Given the description of an element on the screen output the (x, y) to click on. 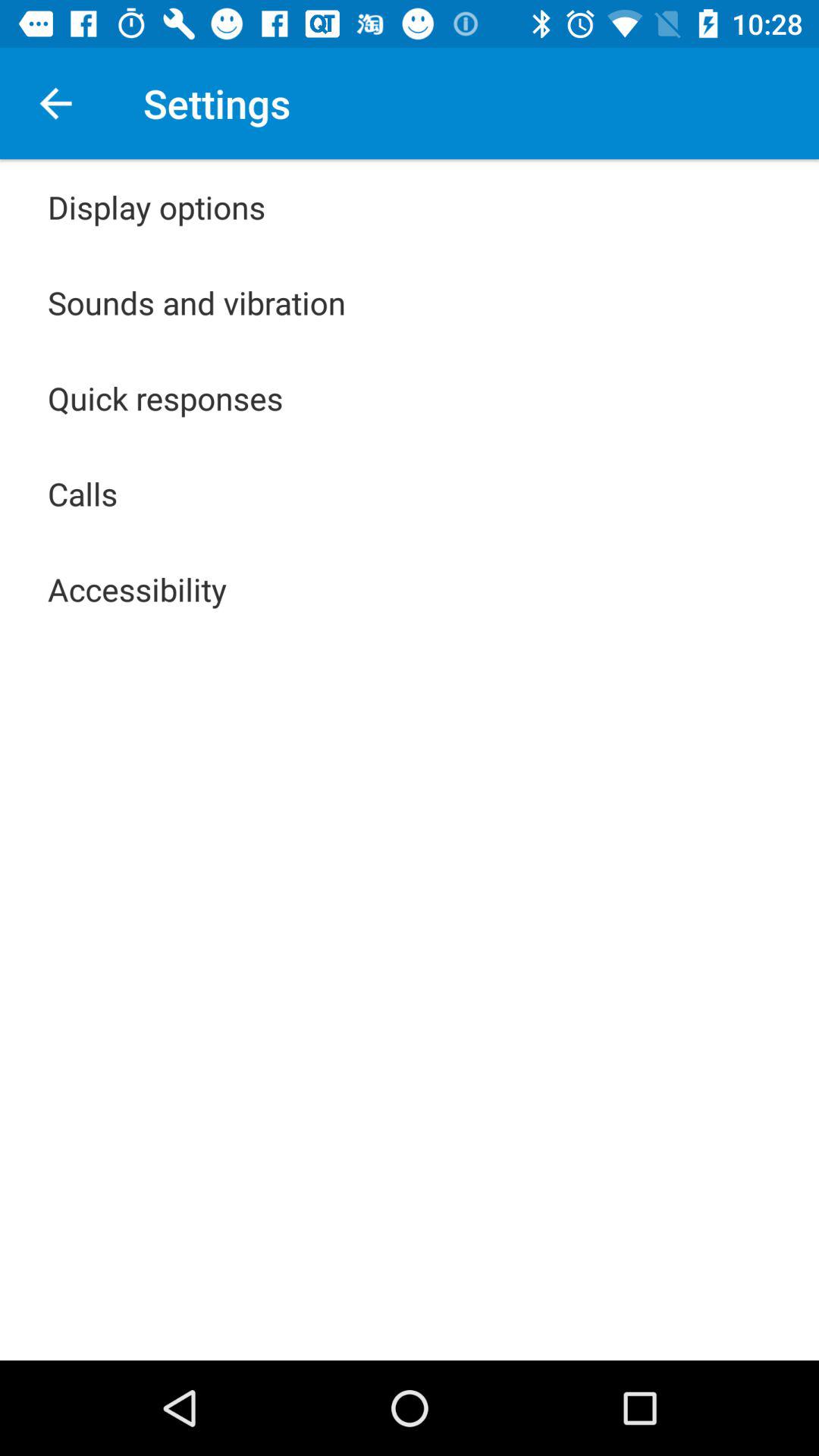
turn on the app below quick responses (82, 493)
